Given the description of an element on the screen output the (x, y) to click on. 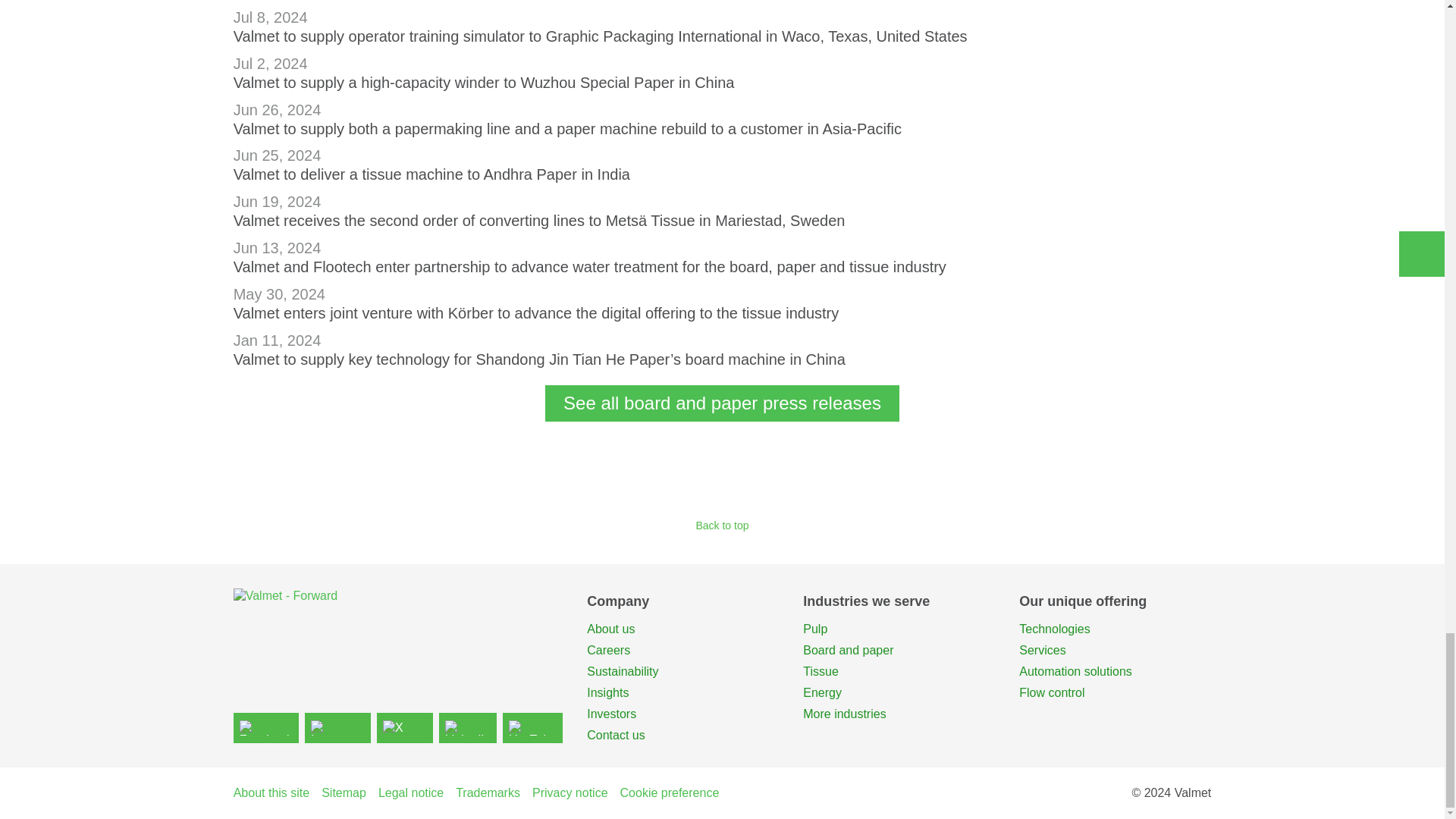
YouTube (532, 727)
Valmet - Forward (397, 613)
Instagram (337, 727)
LinkedIn (468, 727)
Facebook (265, 727)
